Given the description of an element on the screen output the (x, y) to click on. 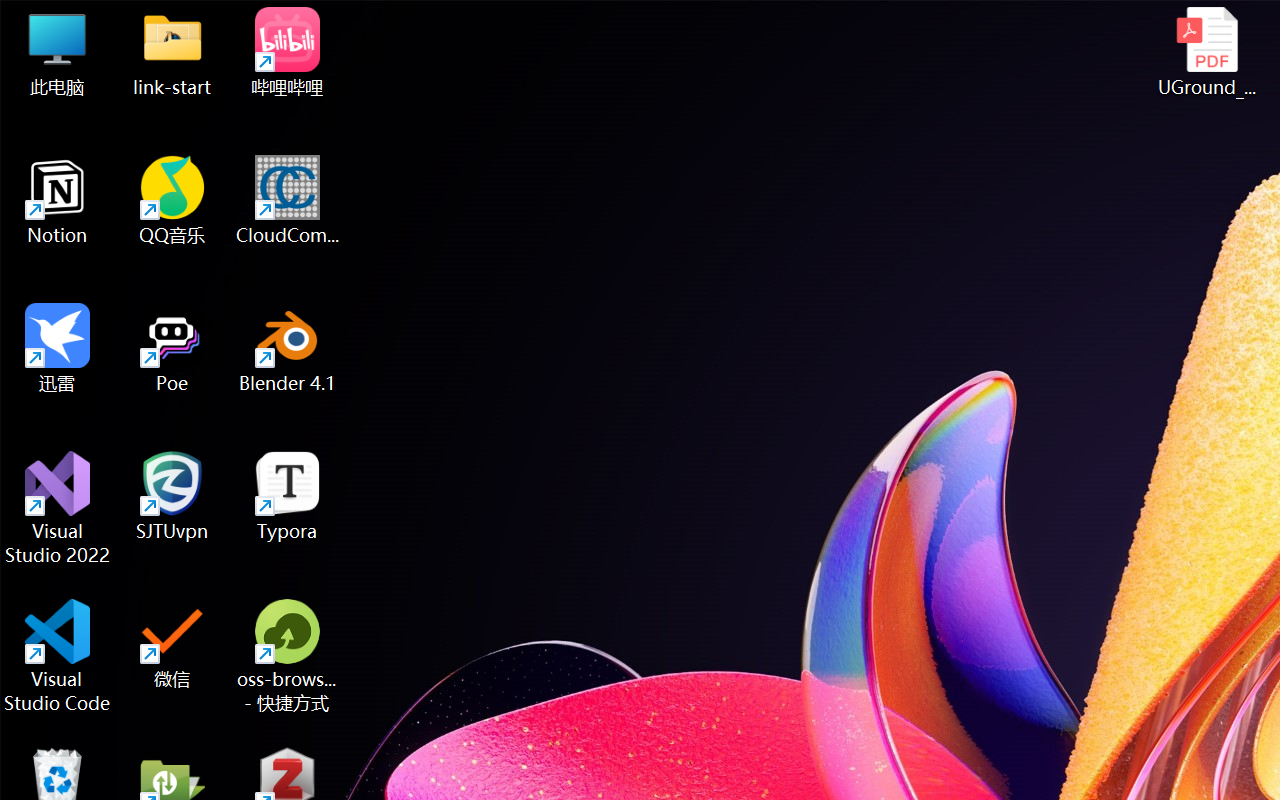
Blender 4.1 (287, 348)
UGround_paper.pdf (1206, 52)
Visual Studio 2022 (57, 508)
Visual Studio Code (57, 656)
CloudCompare (287, 200)
Typora (287, 496)
